Given the description of an element on the screen output the (x, y) to click on. 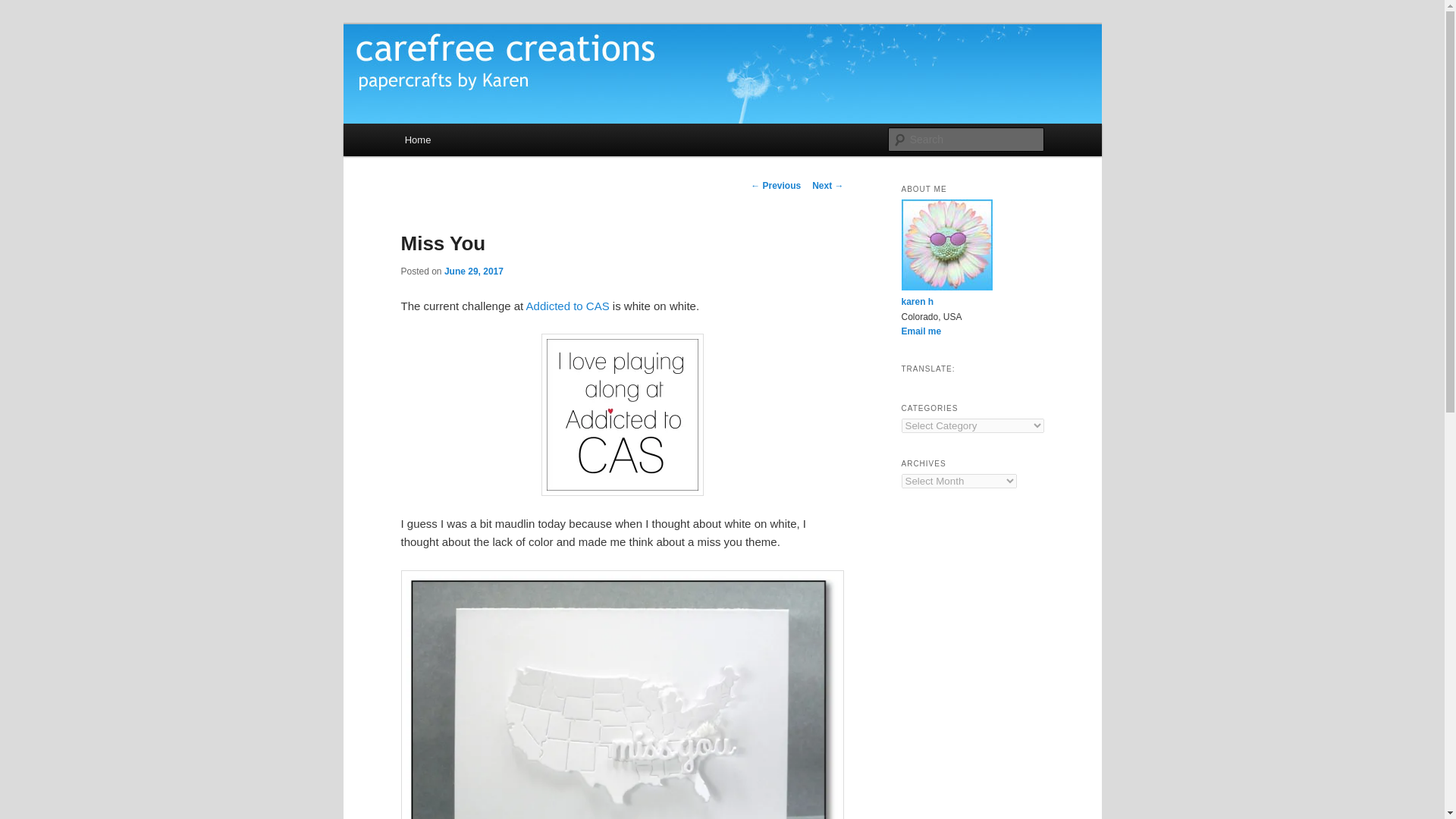
7:38 pm (473, 271)
Home (417, 139)
About Me (917, 301)
Addicted to CAS (567, 305)
Carefree Creations (502, 78)
Search (19, 7)
June 29, 2017 (473, 271)
karen h (917, 301)
Email me (920, 330)
